Given the description of an element on the screen output the (x, y) to click on. 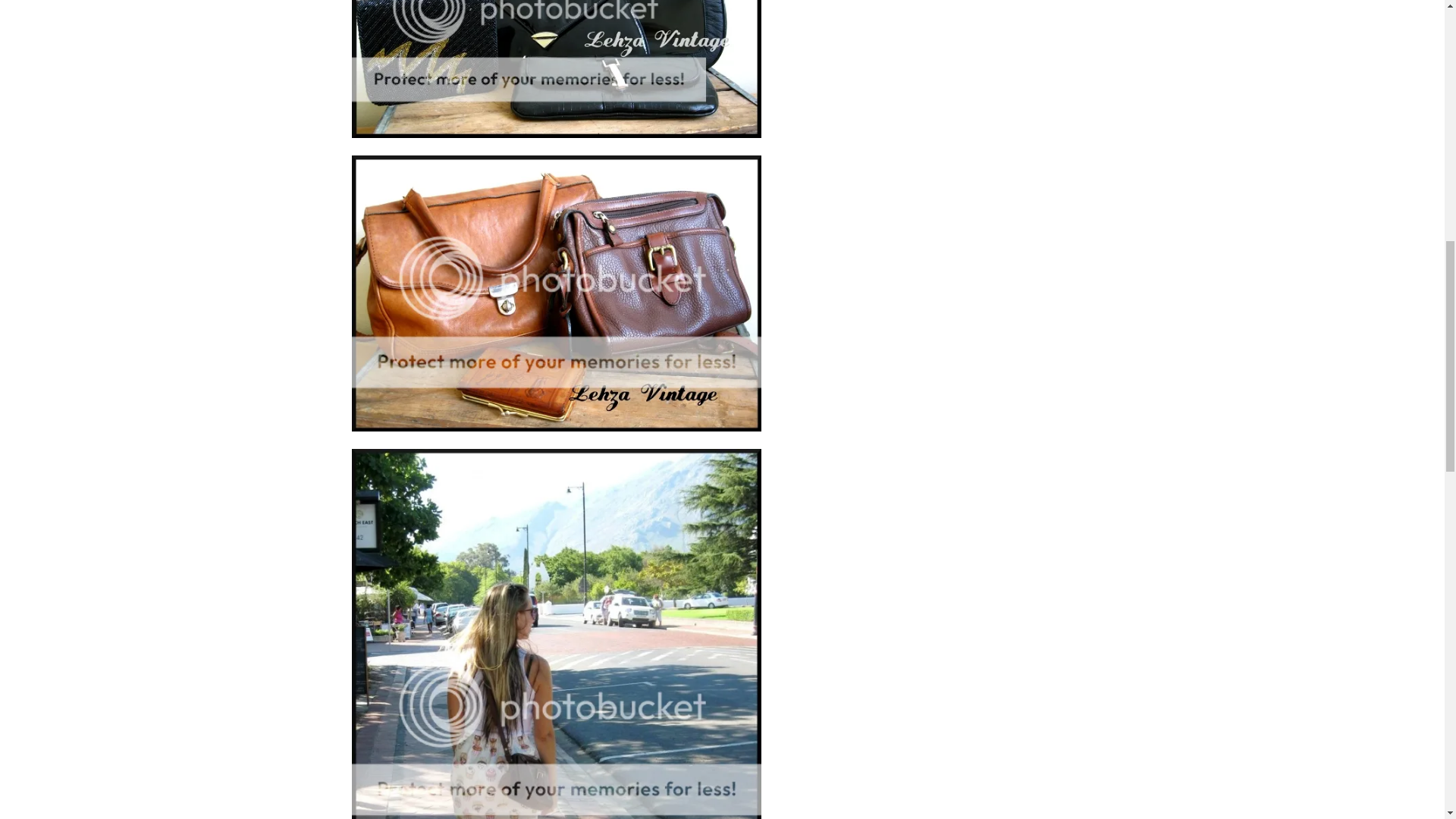
vintage bags (556, 69)
vintage bags (556, 293)
